Given the description of an element on the screen output the (x, y) to click on. 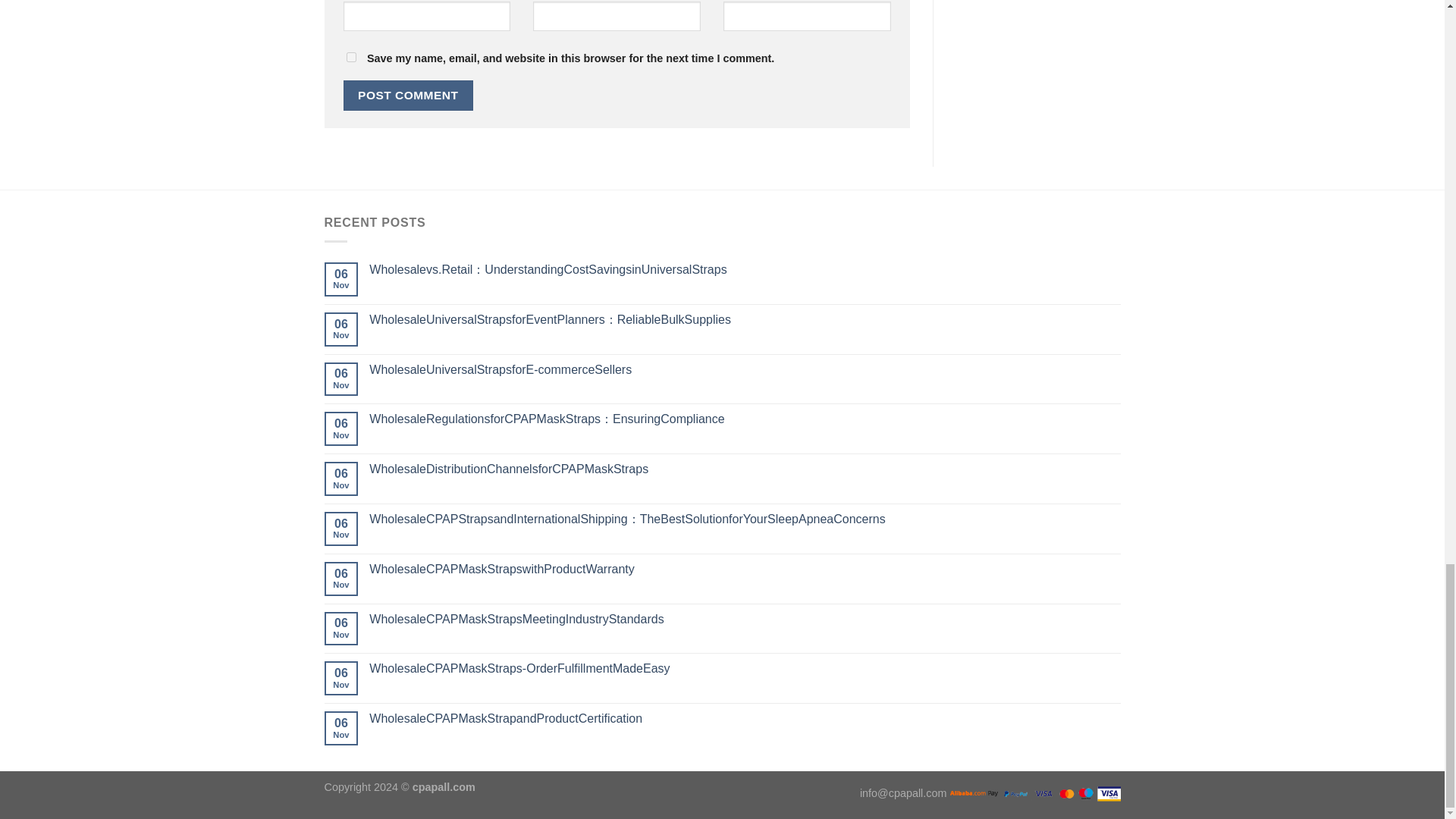
WholesaleUniversalStrapsforE-commerceSellers (744, 369)
Post Comment (407, 94)
WholesaleDistributionChannelsforCPAPMaskStraps (744, 468)
Post Comment (407, 94)
yes (350, 57)
